Given the description of an element on the screen output the (x, y) to click on. 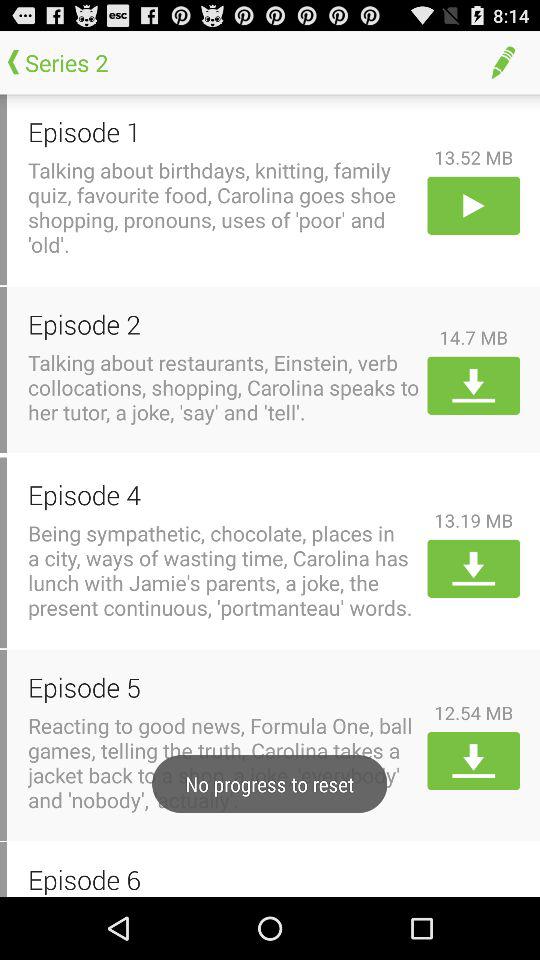
turn off app to the left of 12.54 mb app (224, 686)
